Given the description of an element on the screen output the (x, y) to click on. 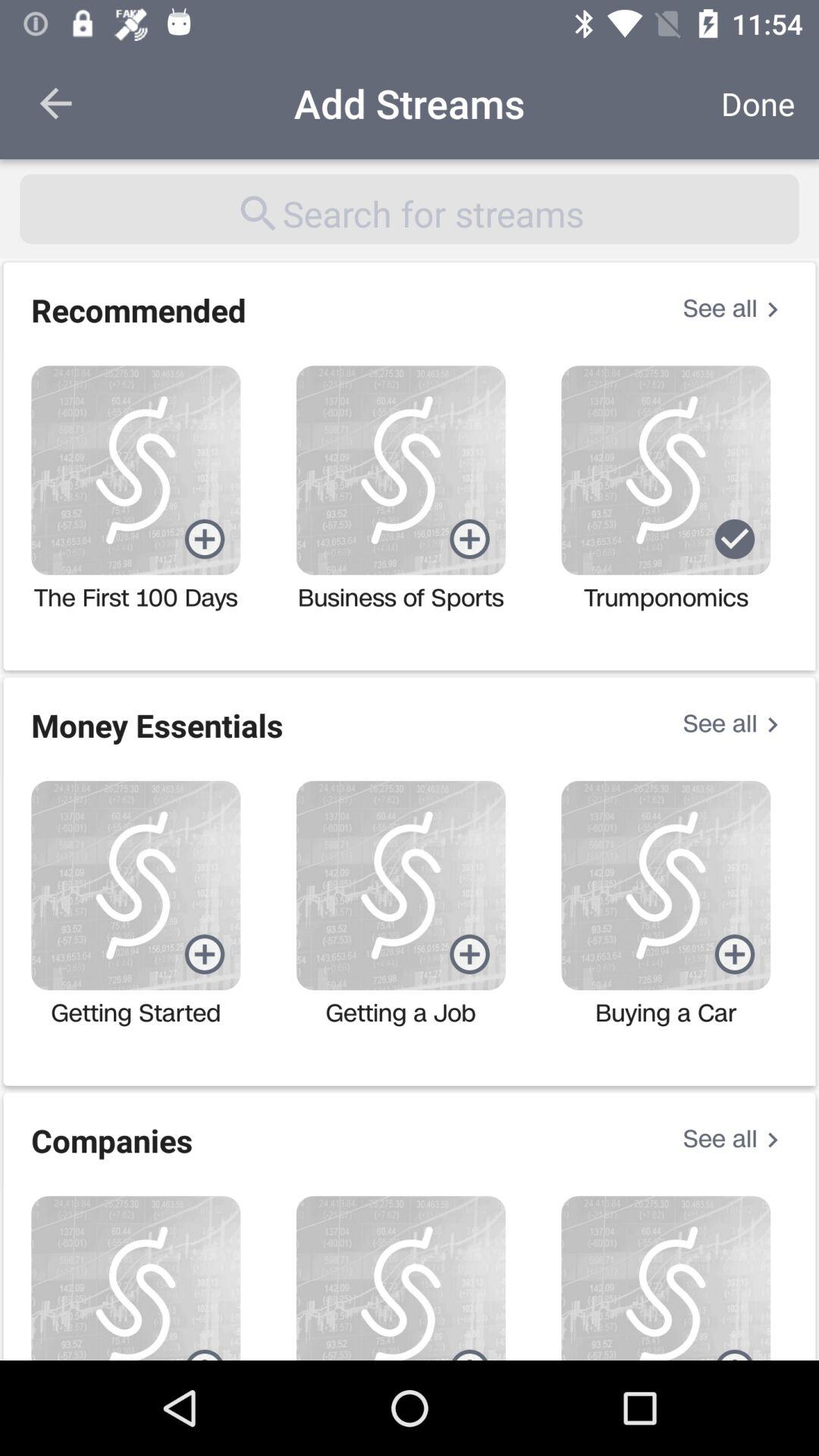
turn on icon next to add streams item (55, 103)
